Given the description of an element on the screen output the (x, y) to click on. 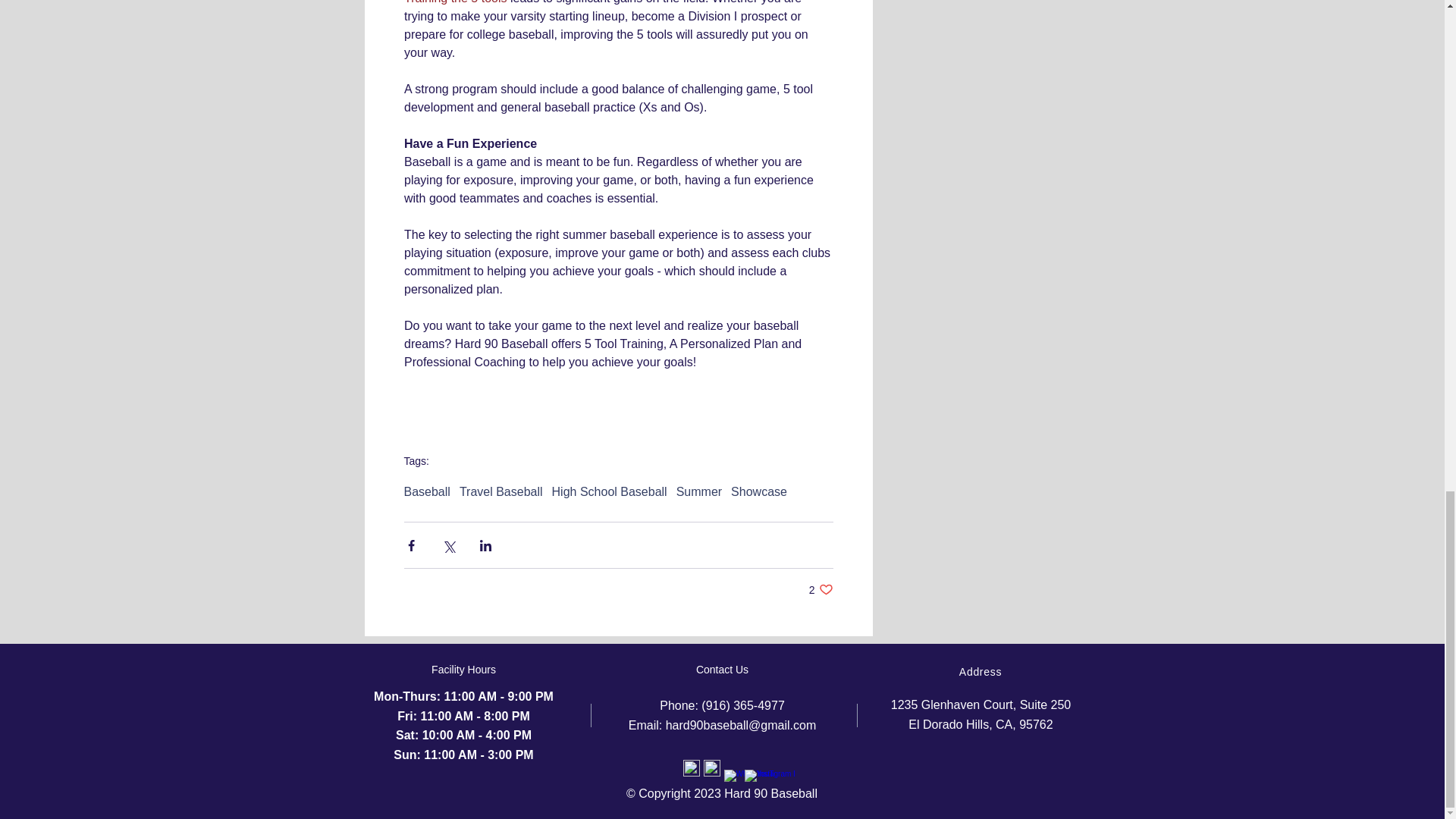
Travel Baseball (501, 491)
Showcase (758, 491)
Baseball (426, 491)
High School Baseball (608, 491)
Summer (699, 491)
Training the 5 tools (454, 2)
